Given the description of an element on the screen output the (x, y) to click on. 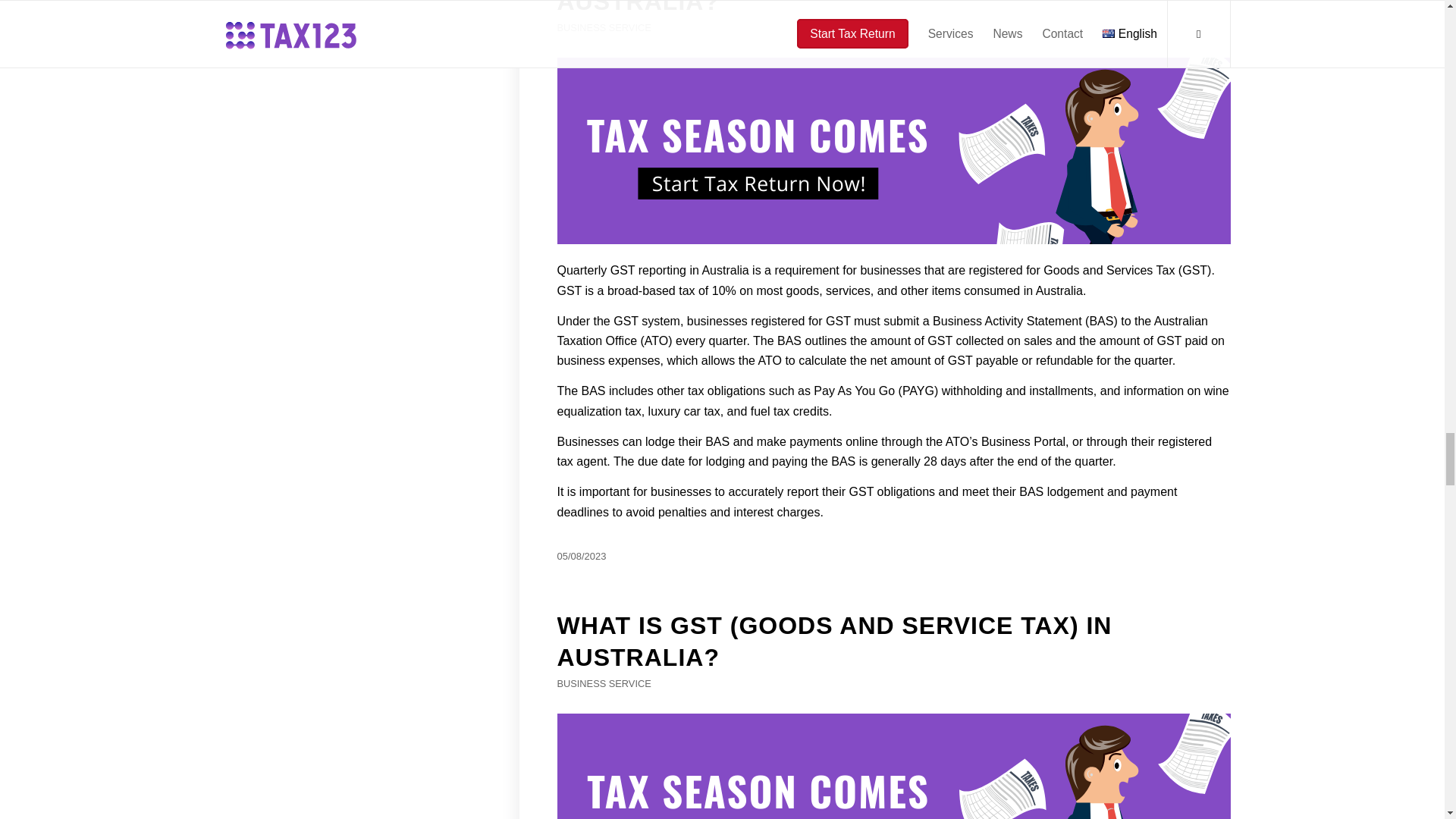
WHAT IS QUARTERLY GST REPORTING IN AUSTRALIA? (893, 765)
